Given the description of an element on the screen output the (x, y) to click on. 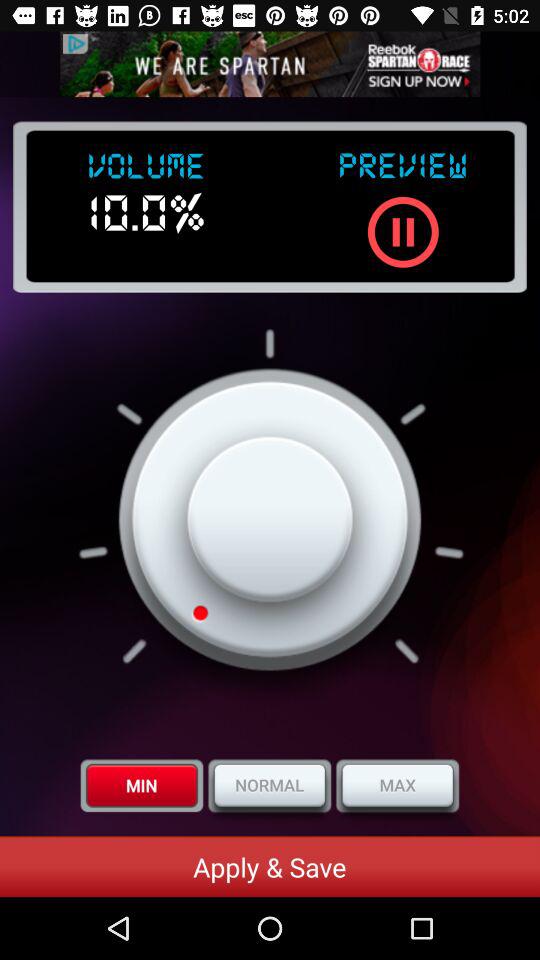
pause (402, 231)
